Given the description of an element on the screen output the (x, y) to click on. 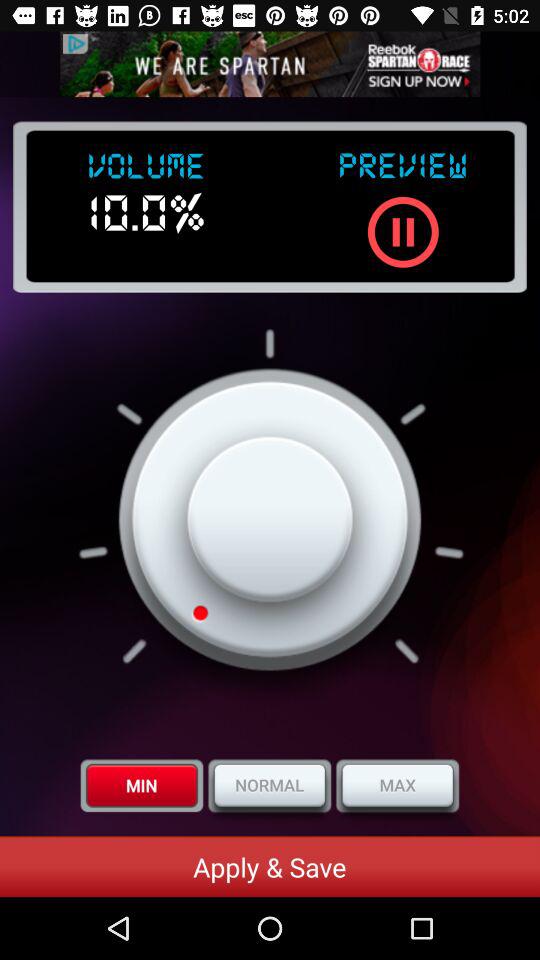
pause (402, 231)
